Given the description of an element on the screen output the (x, y) to click on. 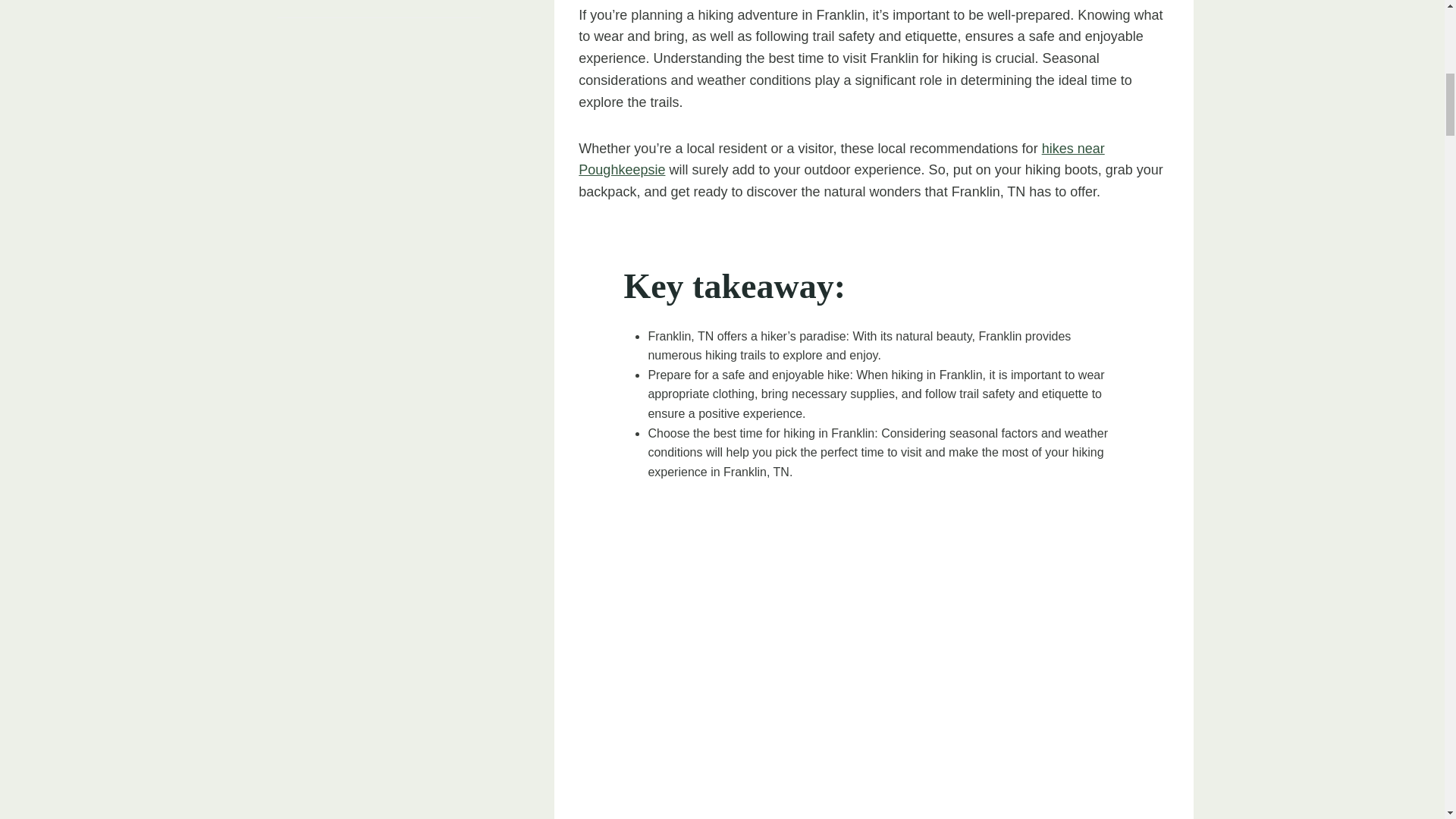
hikes near Poughkeepsie (840, 159)
